Given the description of an element on the screen output the (x, y) to click on. 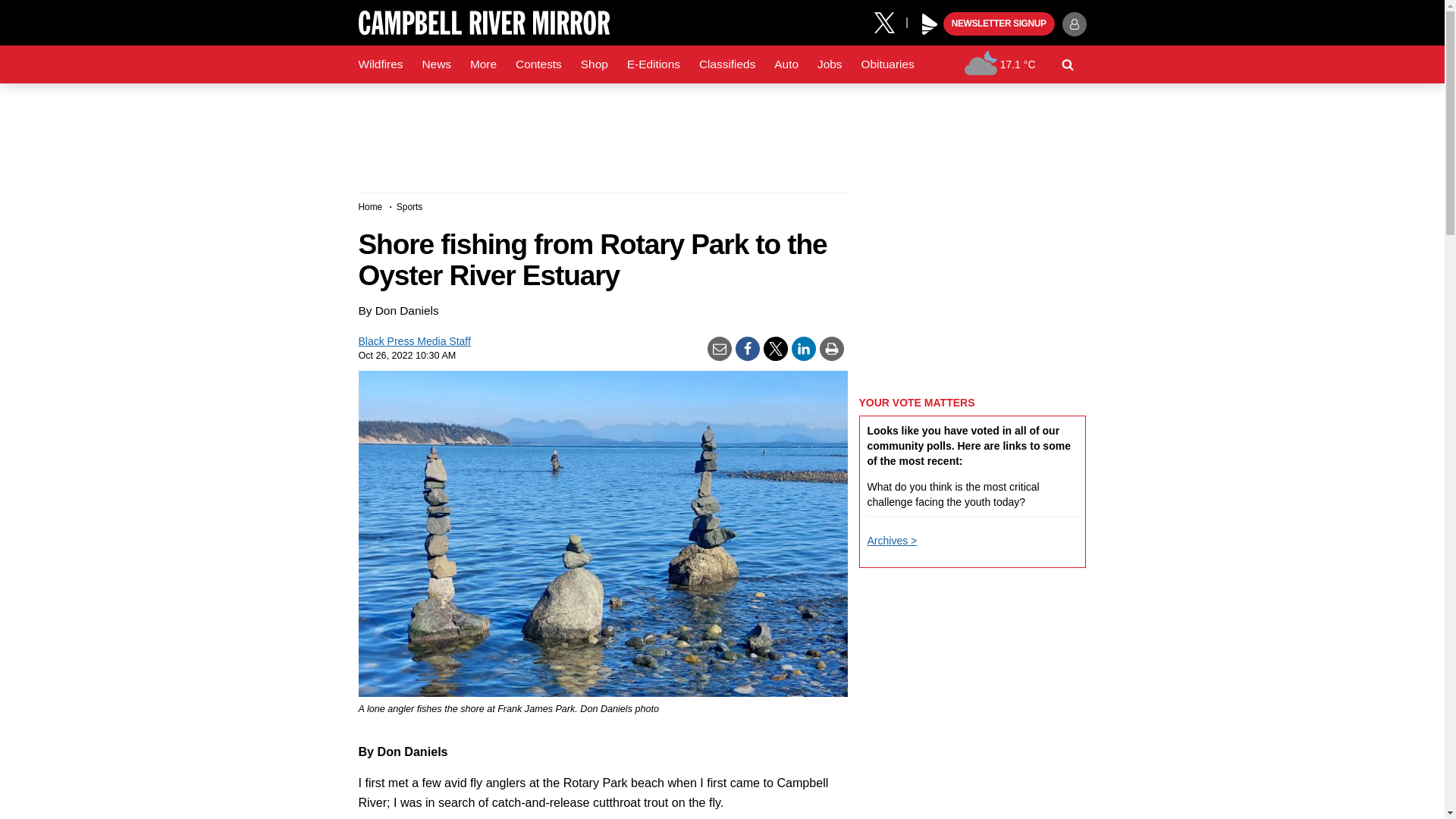
News (435, 64)
X (889, 21)
Play (929, 24)
NEWSLETTER SIGNUP (998, 24)
Wildfires (380, 64)
Black Press Media (929, 24)
